Given the description of an element on the screen output the (x, y) to click on. 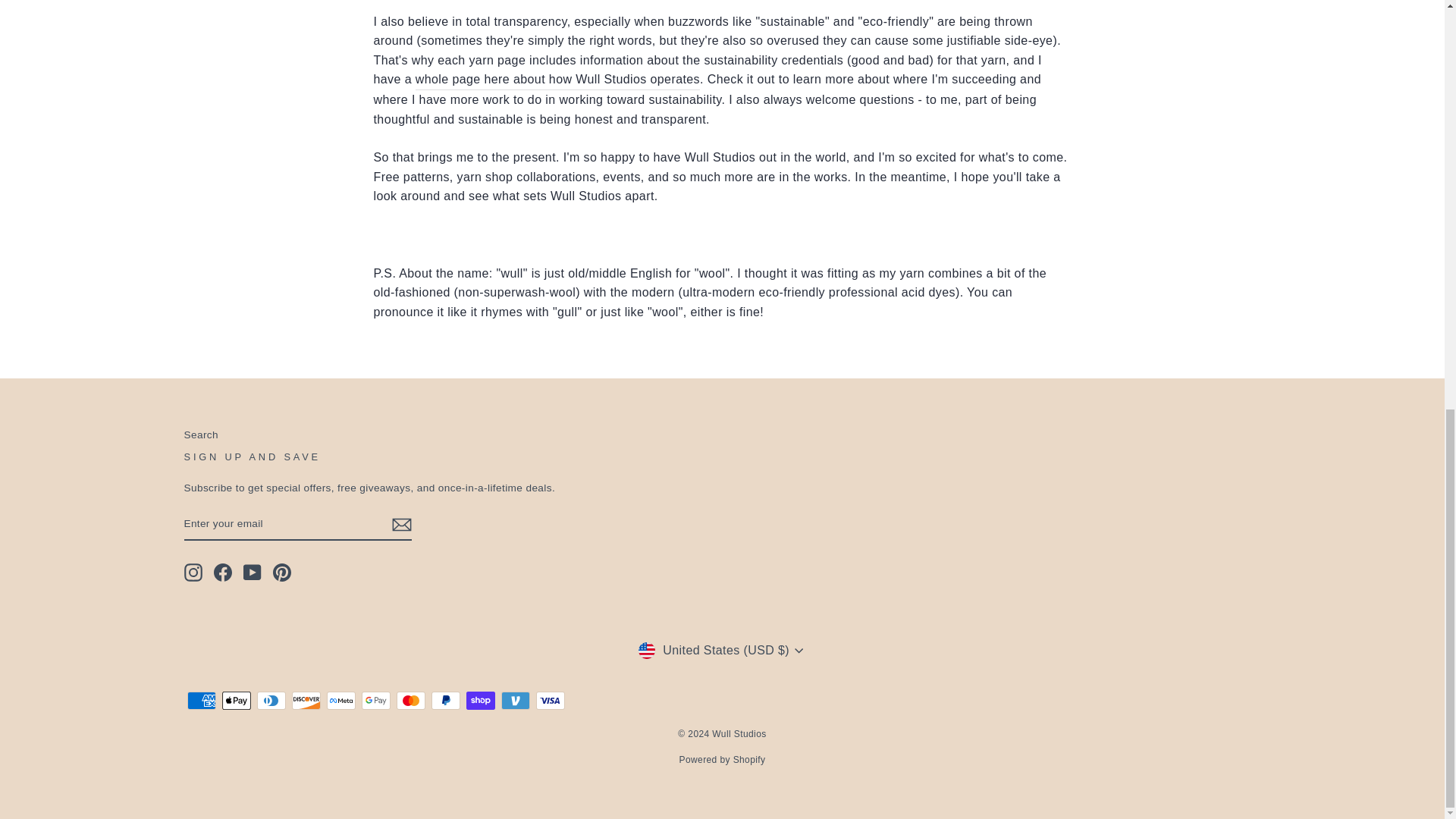
Discover (305, 700)
Wull Studios on Facebook (222, 572)
American Express (200, 700)
Wull Studios on Instagram (192, 572)
Wull Studios on YouTube (251, 572)
Wull Studios on Pinterest (282, 572)
Meta Pay (340, 700)
Sustainability of Wull Studios (557, 79)
Google Pay (375, 700)
Diners Club (270, 700)
Apple Pay (235, 700)
